Given the description of an element on the screen output the (x, y) to click on. 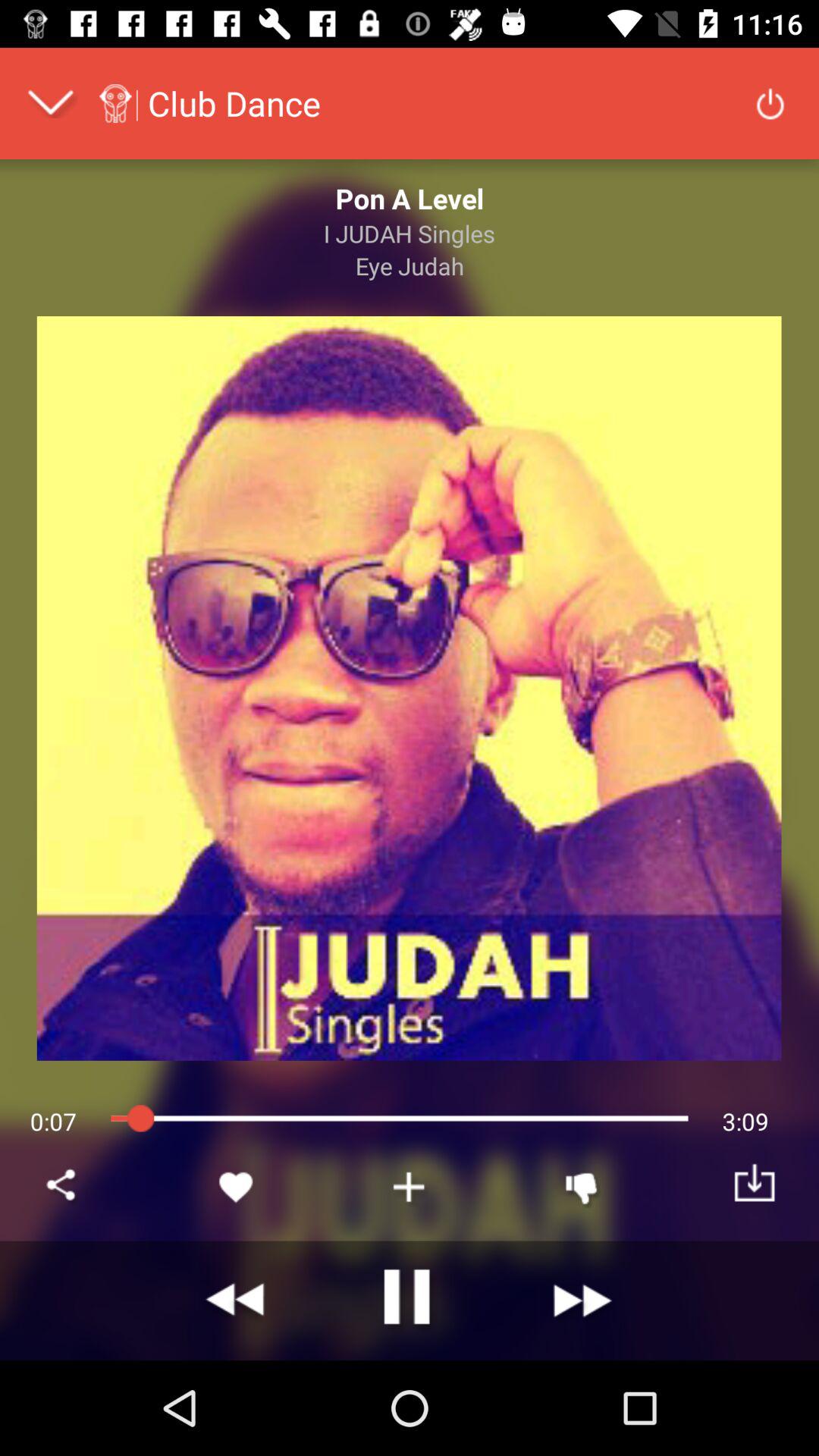
press icon at the top right corner (770, 102)
